Given the description of an element on the screen output the (x, y) to click on. 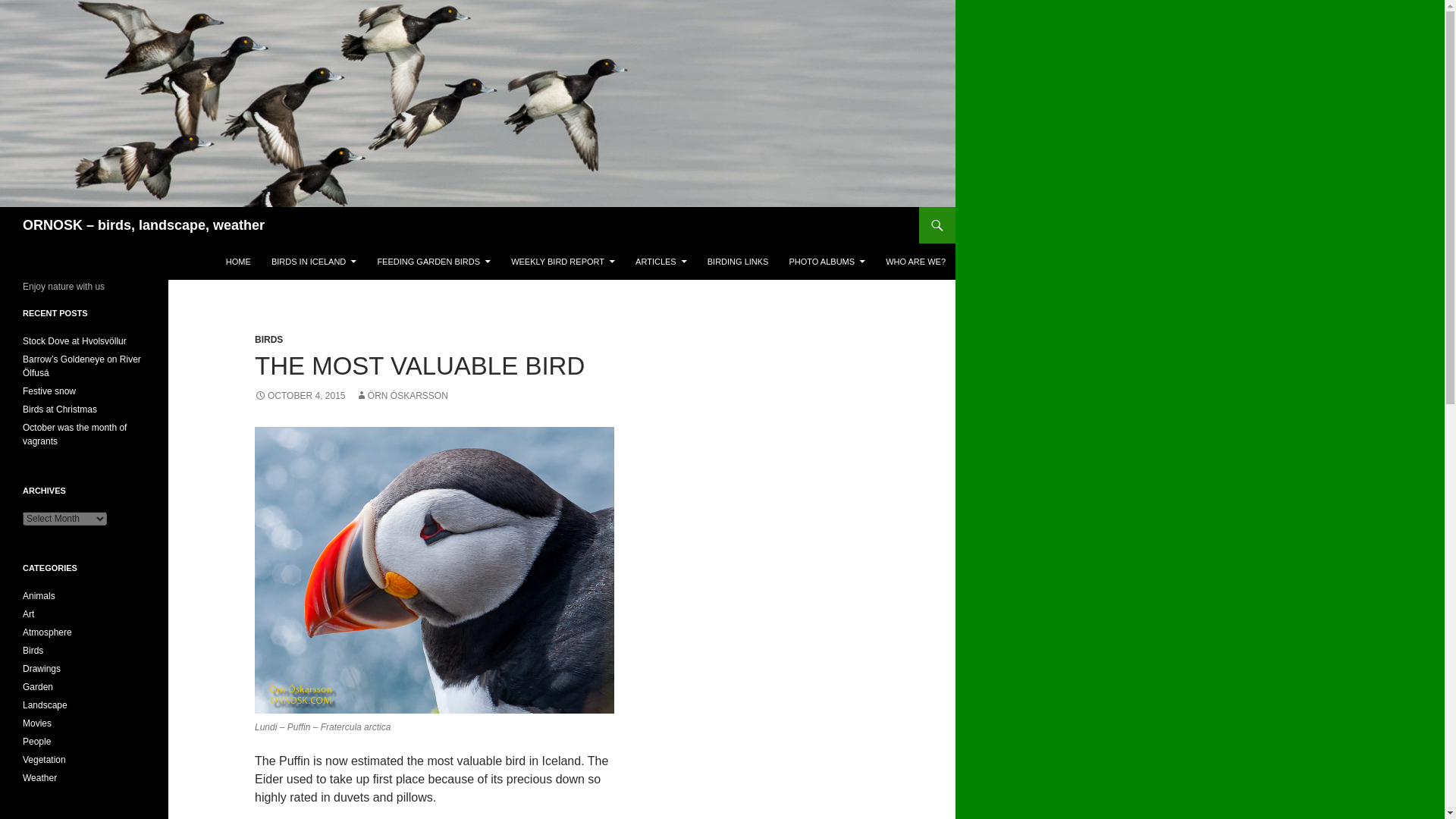
WEEKLY BIRD REPORT (563, 261)
BIRDING LINKS (737, 261)
BIRDS (268, 339)
OCTOBER 4, 2015 (300, 395)
BIRDS IN ICELAND (313, 261)
FEEDING GARDEN BIRDS (433, 261)
ARTICLES (660, 261)
HOME (238, 261)
WHO ARE WE? (915, 261)
PHOTO ALBUMS (826, 261)
